Given the description of an element on the screen output the (x, y) to click on. 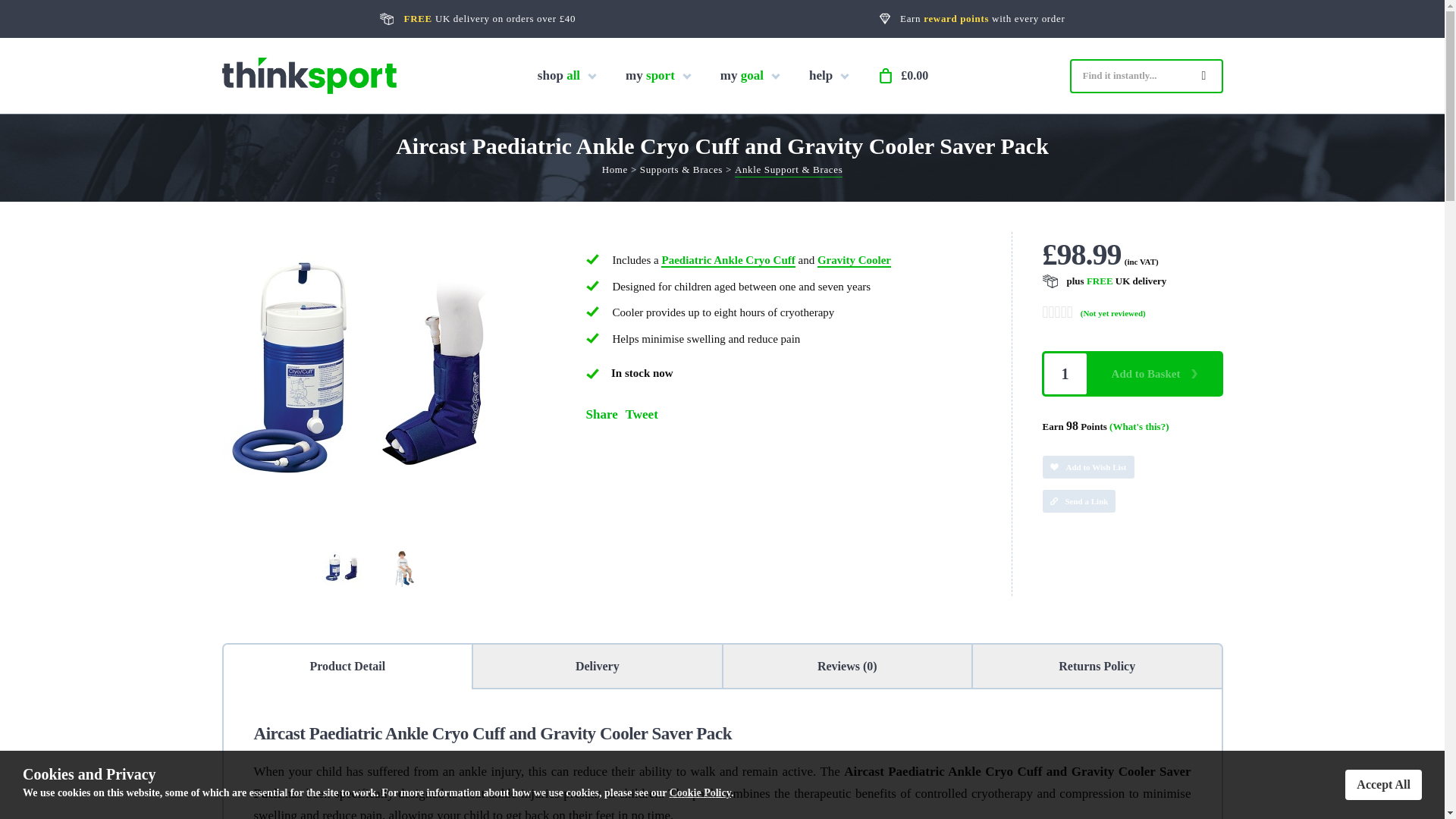
Send a link (1132, 495)
Click for details (1115, 281)
Paediatric Ankle Cryo Cuff (727, 260)
In stock now (591, 373)
Delivery (597, 666)
Add to Basket (1154, 373)
Add to Wish List (1088, 466)
Send a Link (1078, 500)
Product Detail (346, 666)
Gravity Cooler (853, 260)
